Given the description of an element on the screen output the (x, y) to click on. 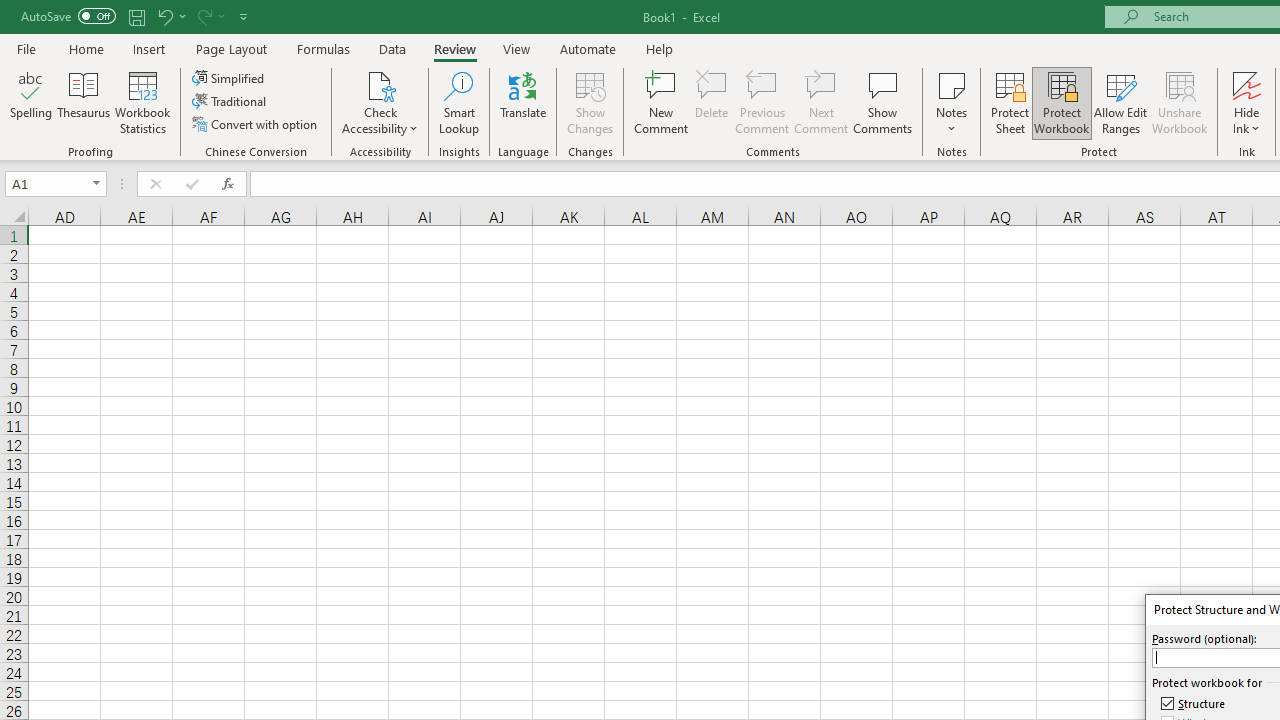
Hide Ink (1247, 102)
Show Comments (883, 102)
Delete (712, 102)
Hide Ink (1247, 84)
Protect Workbook... (1061, 102)
Next Comment (821, 102)
Automate (588, 48)
